Given the description of an element on the screen output the (x, y) to click on. 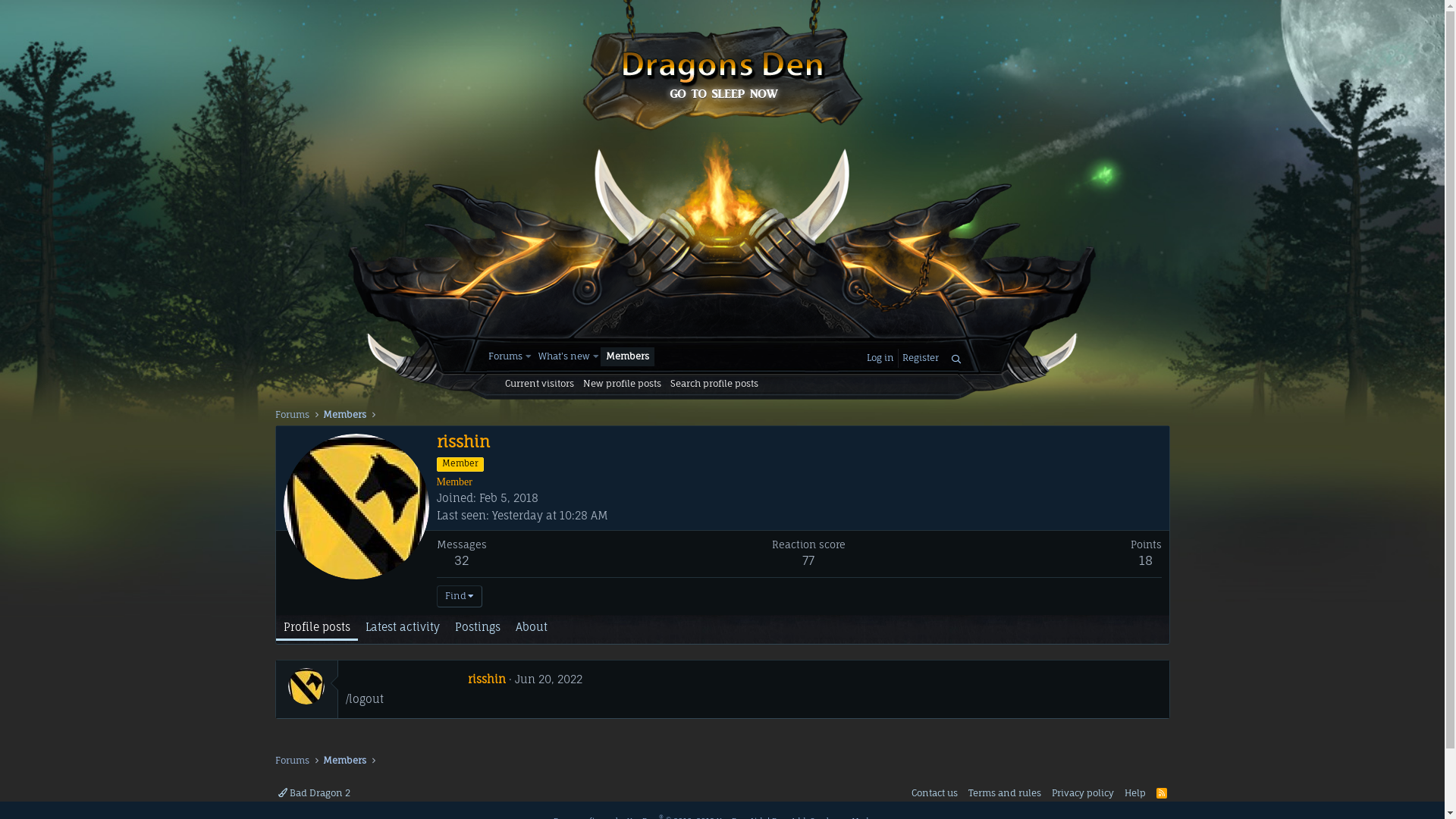
Profile posts Element type: text (316, 628)
Current visitors Element type: text (539, 383)
Bad Dragon 2 Element type: text (313, 792)
Postings Element type: text (477, 628)
RSS Element type: text (1161, 792)
Privacy policy Element type: text (1082, 792)
About Element type: text (531, 628)
18 Element type: text (1145, 559)
Members Element type: text (344, 414)
Find Element type: text (459, 596)
What's new Element type: text (562, 356)
Forums Element type: text (502, 356)
Contact us Element type: text (934, 792)
Search profile posts Element type: text (713, 383)
New profile posts Element type: text (621, 383)
Members Element type: text (627, 356)
Terms and rules Element type: text (1004, 792)
Latest activity Element type: text (402, 628)
Log in Element type: text (879, 357)
Search Element type: hover (956, 359)
Register Element type: text (919, 357)
Forums Element type: text (291, 760)
Forums Element type: text (291, 414)
Members Element type: text (344, 760)
32 Element type: text (460, 559)
Help Element type: text (1134, 792)
risshin Element type: text (486, 678)
Jun 20, 2022 Element type: text (548, 678)
